Given the description of an element on the screen output the (x, y) to click on. 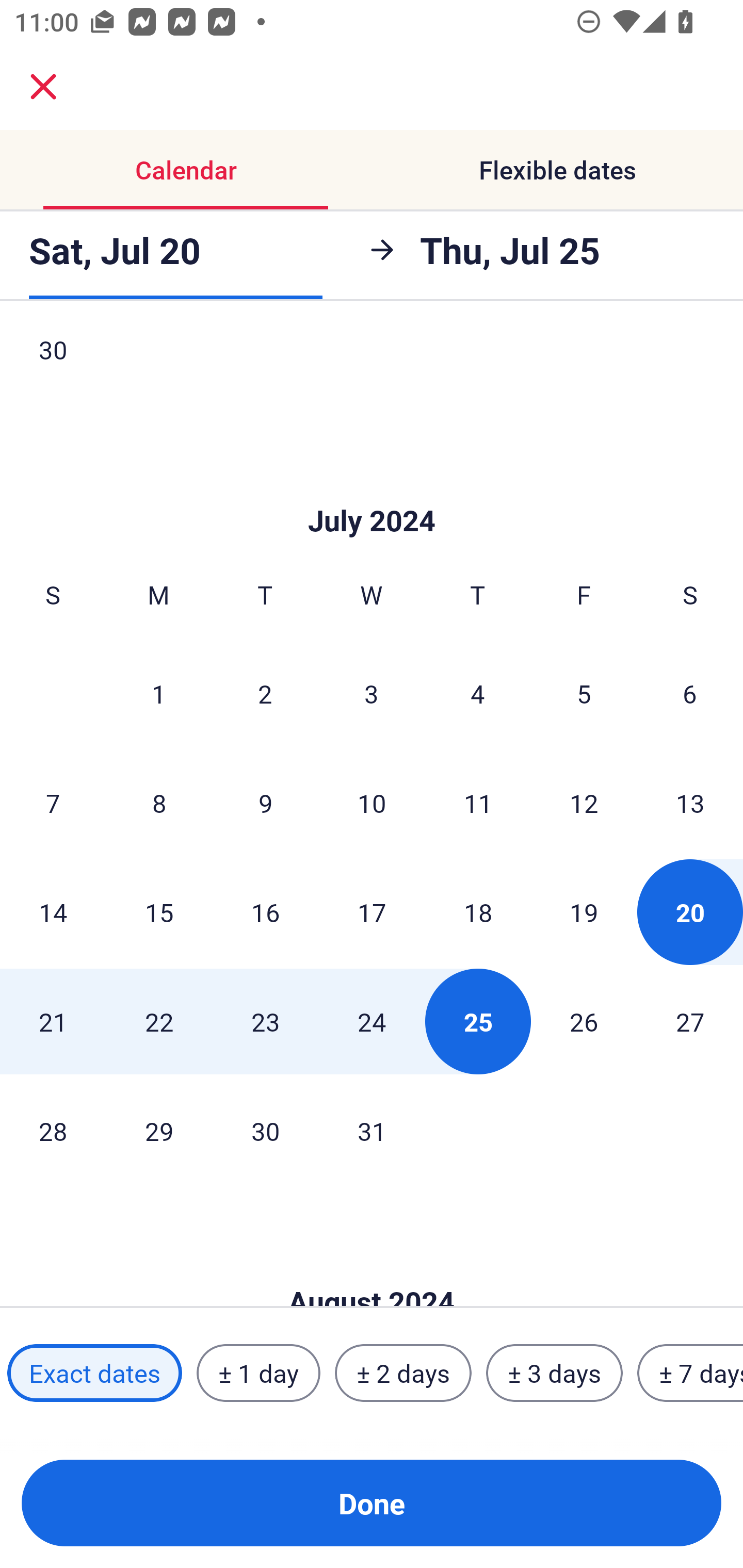
close. (43, 86)
Flexible dates (557, 170)
30 Sunday, June 30, 2024 (53, 366)
Skip to Done (371, 489)
1 Monday, July 1, 2024 (158, 693)
2 Tuesday, July 2, 2024 (264, 693)
3 Wednesday, July 3, 2024 (371, 693)
4 Thursday, July 4, 2024 (477, 693)
5 Friday, July 5, 2024 (583, 693)
6 Saturday, July 6, 2024 (689, 693)
7 Sunday, July 7, 2024 (53, 802)
8 Monday, July 8, 2024 (159, 802)
9 Tuesday, July 9, 2024 (265, 802)
10 Wednesday, July 10, 2024 (371, 802)
11 Thursday, July 11, 2024 (477, 802)
12 Friday, July 12, 2024 (584, 802)
13 Saturday, July 13, 2024 (690, 802)
14 Sunday, July 14, 2024 (53, 911)
15 Monday, July 15, 2024 (159, 911)
16 Tuesday, July 16, 2024 (265, 911)
17 Wednesday, July 17, 2024 (371, 911)
18 Thursday, July 18, 2024 (477, 911)
19 Friday, July 19, 2024 (584, 911)
26 Friday, July 26, 2024 (584, 1021)
27 Saturday, July 27, 2024 (690, 1021)
28 Sunday, July 28, 2024 (53, 1130)
29 Monday, July 29, 2024 (159, 1130)
30 Tuesday, July 30, 2024 (265, 1130)
31 Wednesday, July 31, 2024 (371, 1130)
Exact dates (94, 1372)
± 1 day (258, 1372)
± 2 days (403, 1372)
± 3 days (553, 1372)
± 7 days (690, 1372)
Done (371, 1502)
